Given the description of an element on the screen output the (x, y) to click on. 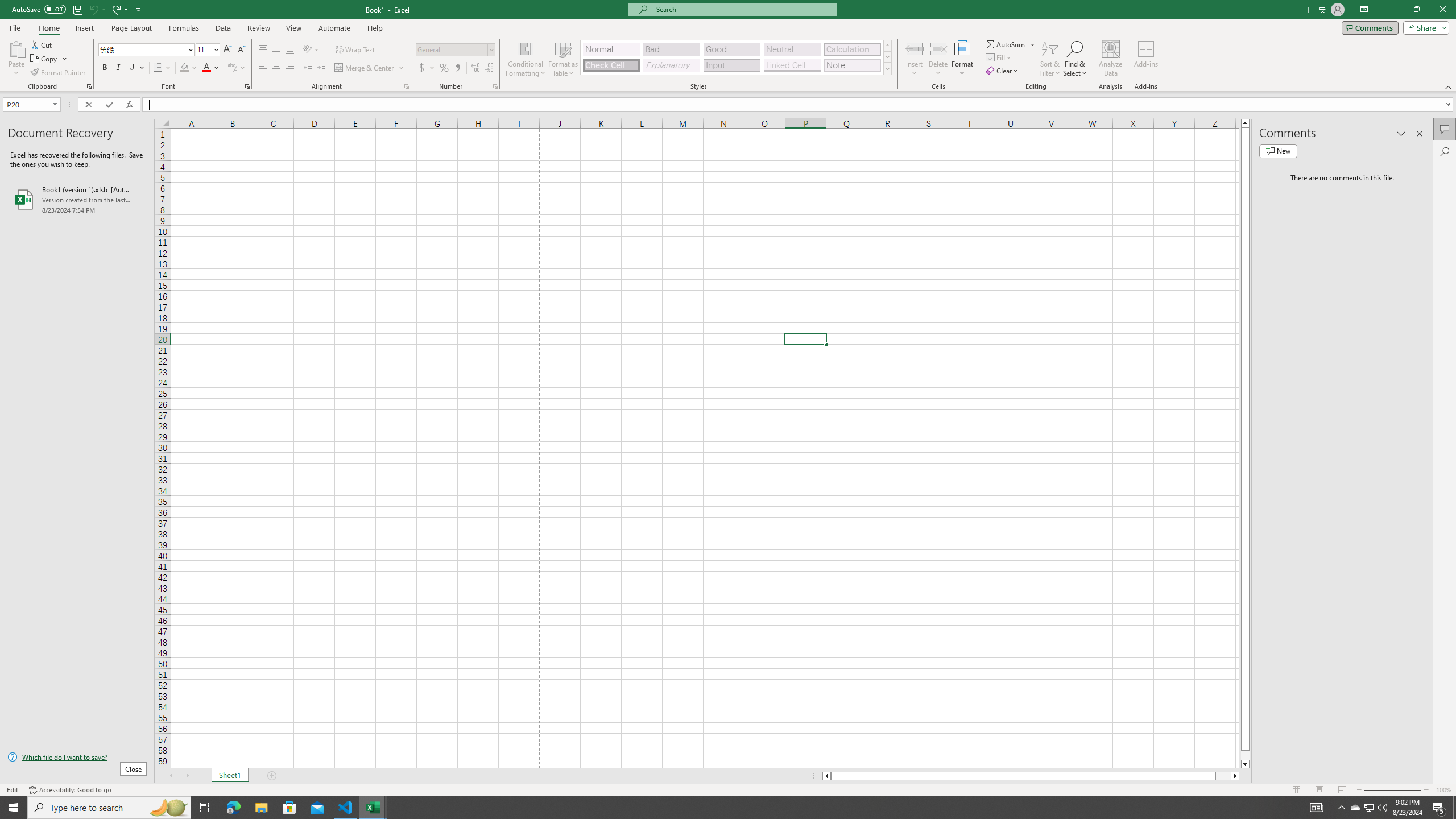
Font Size (207, 49)
Underline (136, 67)
Font (142, 49)
Number Format (455, 49)
AutomationID: CellStylesGallery (736, 57)
Class: MsoCommandBar (728, 45)
AutoSave (38, 9)
Zoom (1392, 790)
Increase Font Size (227, 49)
Scroll Right (187, 775)
Restore Down (1416, 9)
Align Left (262, 67)
